Given the description of an element on the screen output the (x, y) to click on. 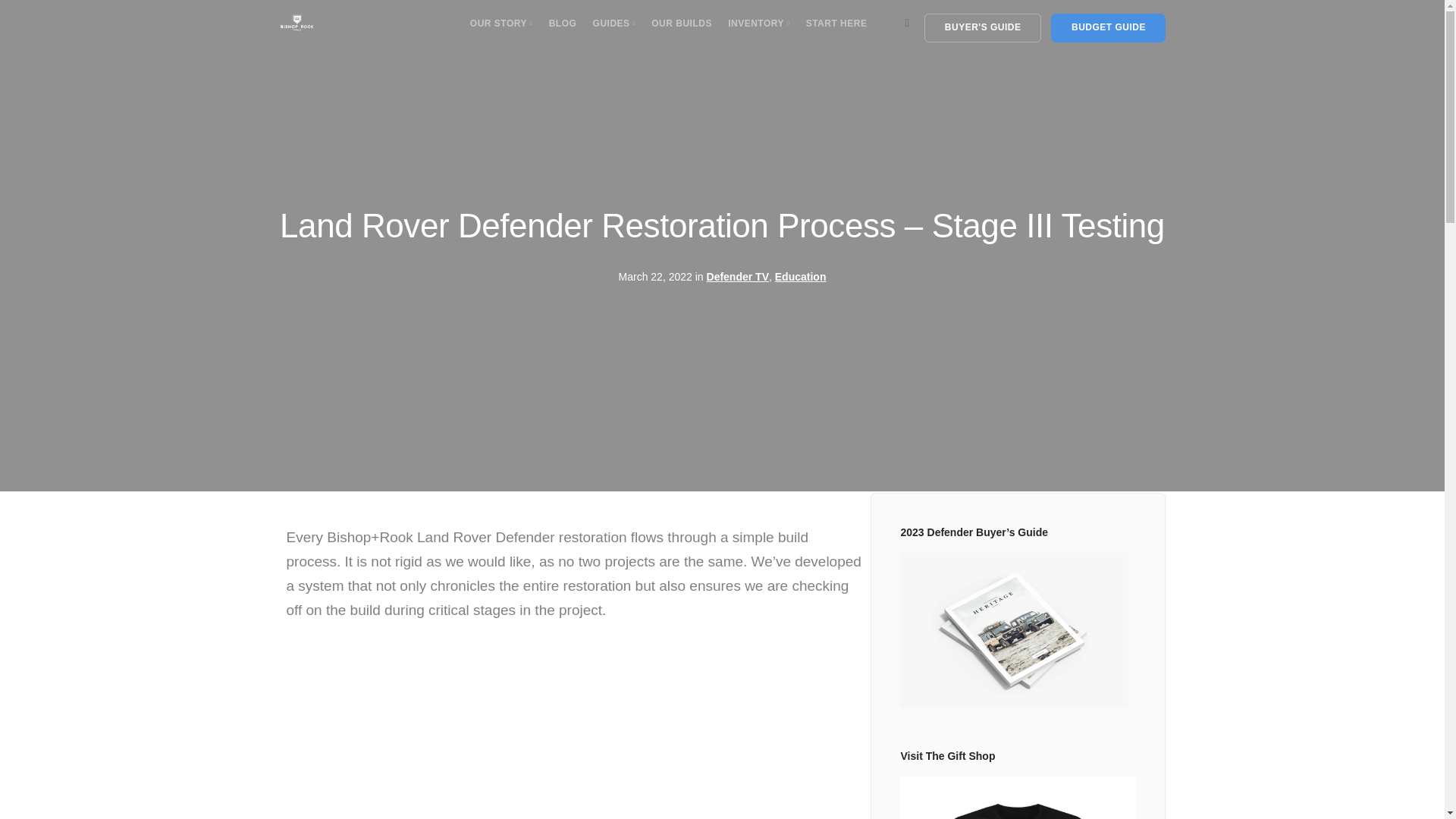
GUIDES (613, 23)
OUR STORY (501, 23)
BLOG (562, 23)
